Given the description of an element on the screen output the (x, y) to click on. 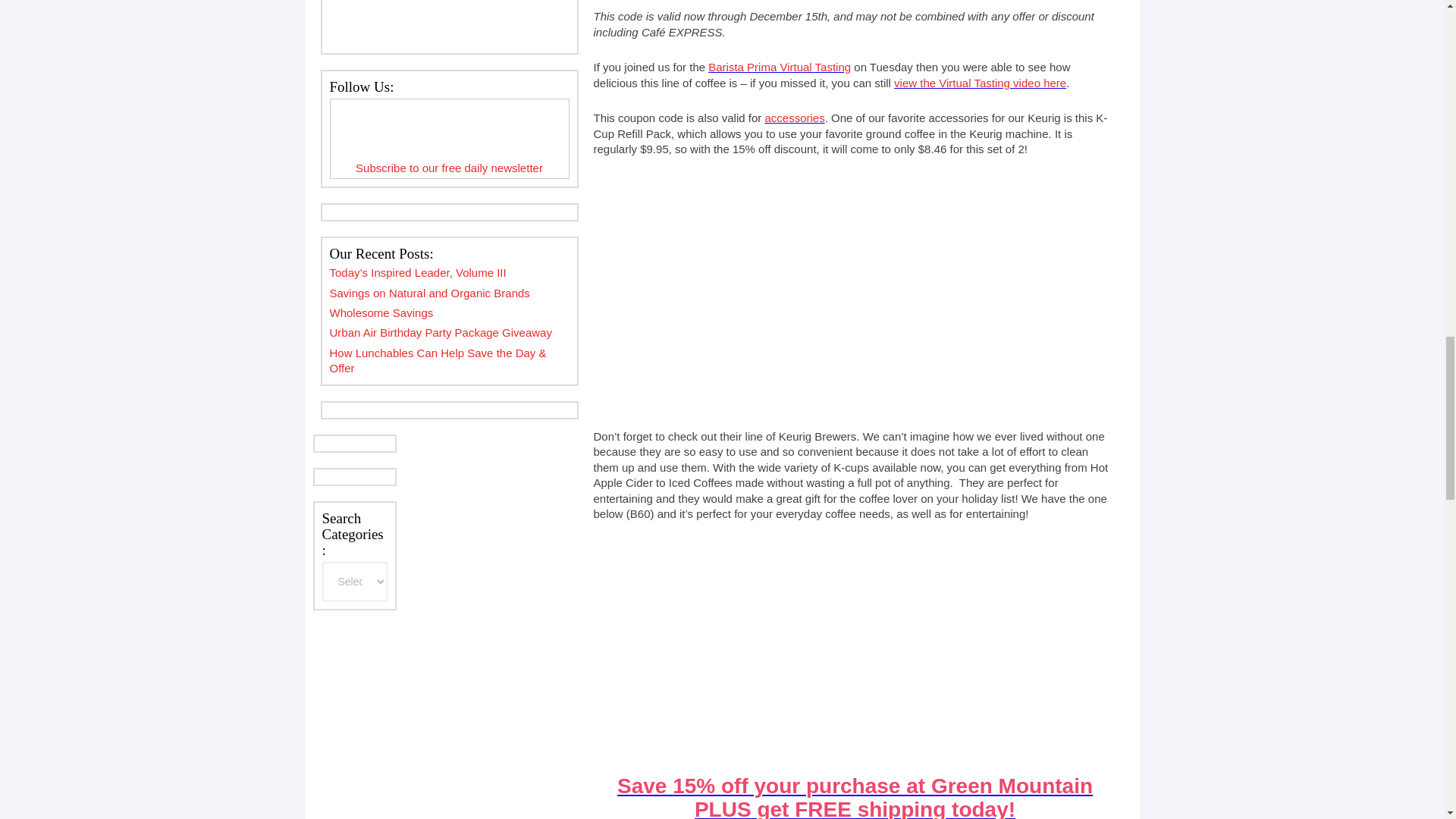
Green Mountain Coffee (855, 796)
Barista Prima (778, 66)
Barista Prima (979, 82)
Accessories (794, 117)
